Given the description of an element on the screen output the (x, y) to click on. 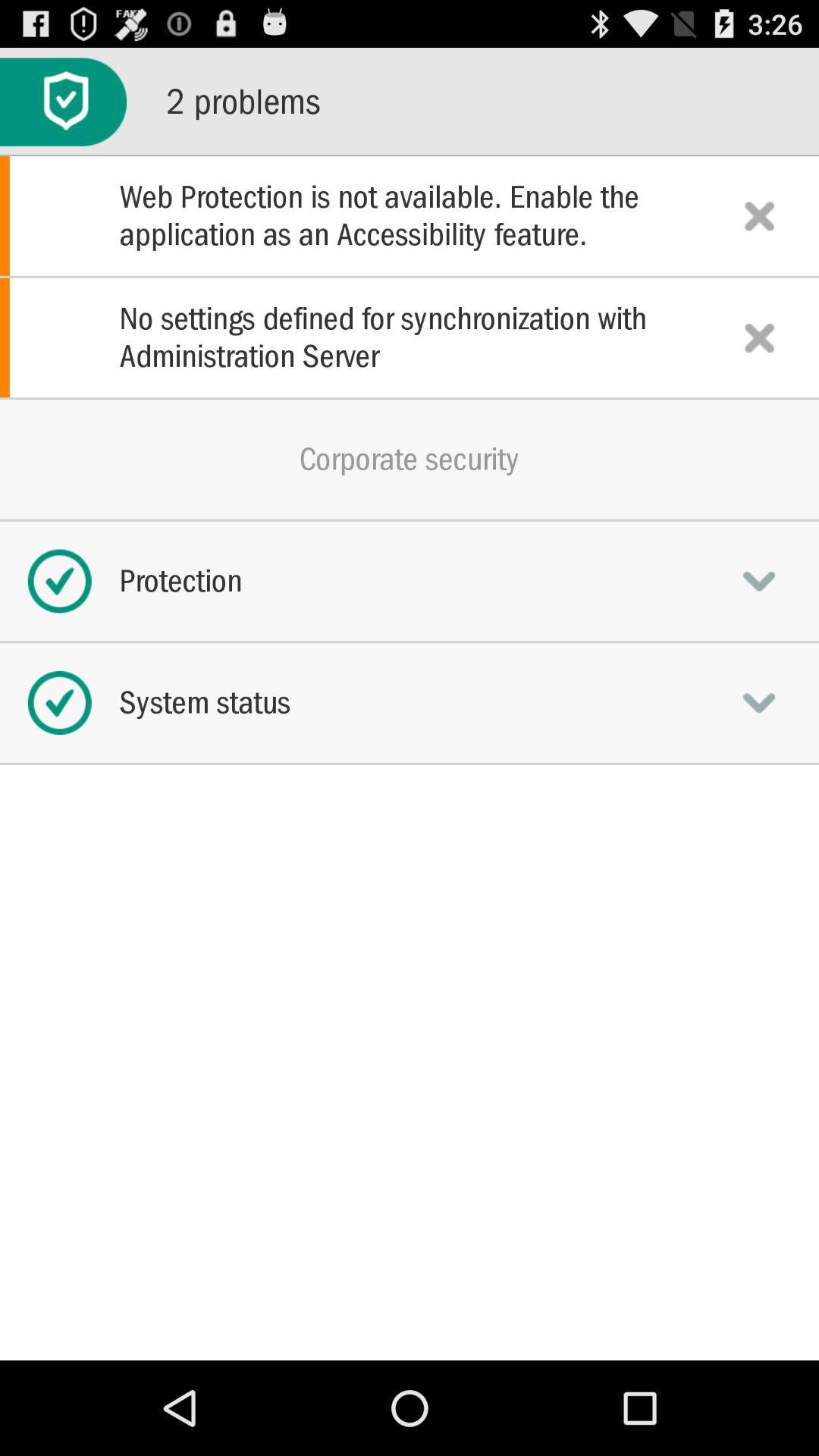
expand a list of problems (63, 102)
